Given the description of an element on the screen output the (x, y) to click on. 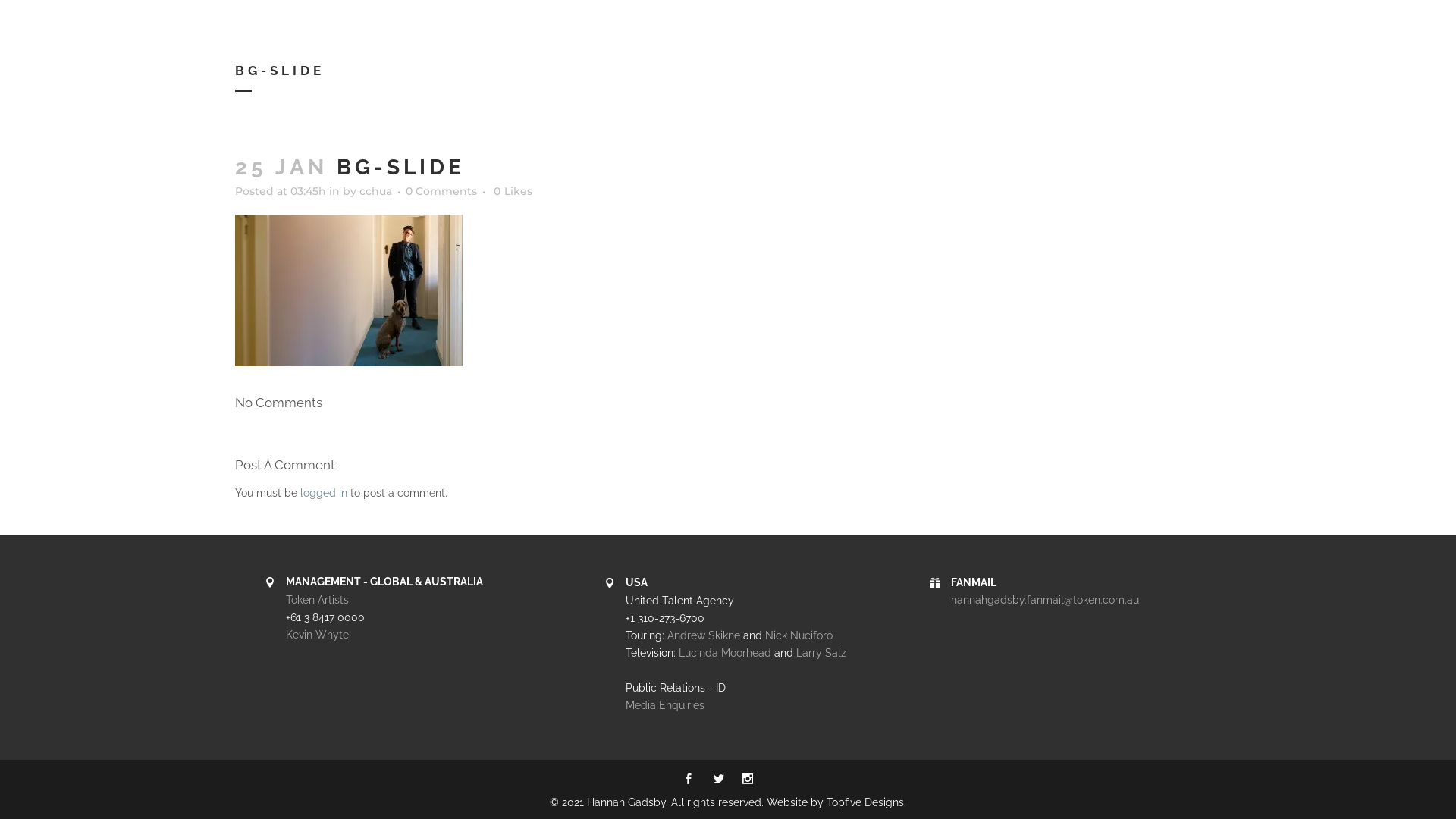
Kevin Whyte Element type: text (316, 634)
cchua Element type: text (375, 190)
Token Artists Element type: text (316, 599)
Larry Salz Element type: text (821, 652)
SHOWS Element type: text (561, 30)
0 Likes Element type: text (512, 190)
hannahgadsby.fanmail@token.com.au Element type: text (1044, 599)
0 Comments Element type: text (440, 190)
MERCHANDISE Element type: text (808, 30)
Media Enquiries Element type: text (664, 705)
Nick Nuciforo Element type: text (798, 635)
ABOUT Element type: text (631, 30)
logged in Element type: text (323, 492)
Website by Topfive Designs. Element type: text (836, 802)
CONTACT Element type: text (706, 30)
Lucinda Moorhead Element type: text (724, 652)
BOOK Element type: text (899, 30)
Andrew Skikne Element type: text (703, 635)
